Given the description of an element on the screen output the (x, y) to click on. 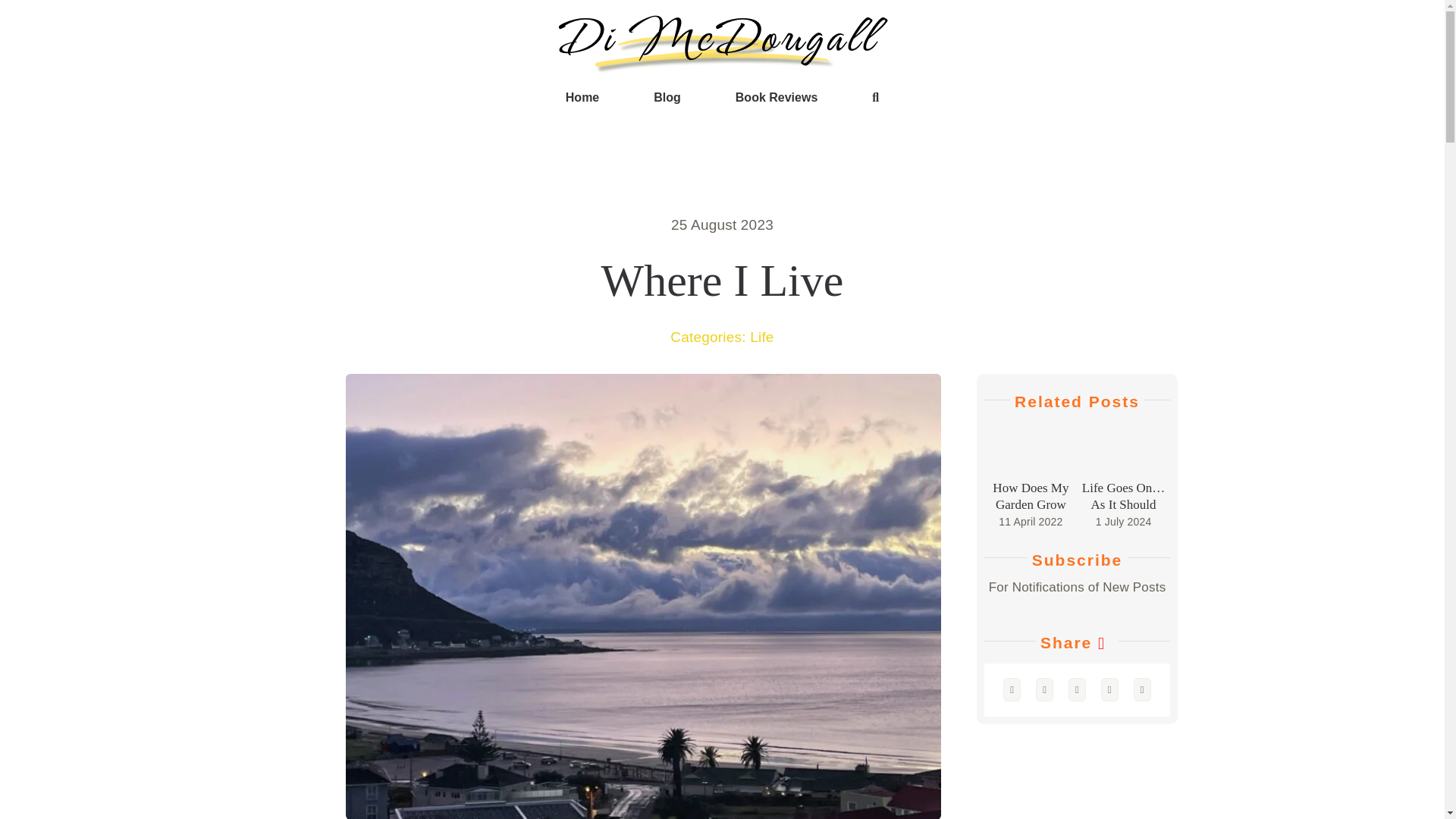
Book Reviews (775, 96)
Life (761, 336)
How Does My Garden Grow (1030, 450)
How Does My Garden Grow (1030, 495)
Life Goes On... As It Should (1123, 450)
